Given the description of an element on the screen output the (x, y) to click on. 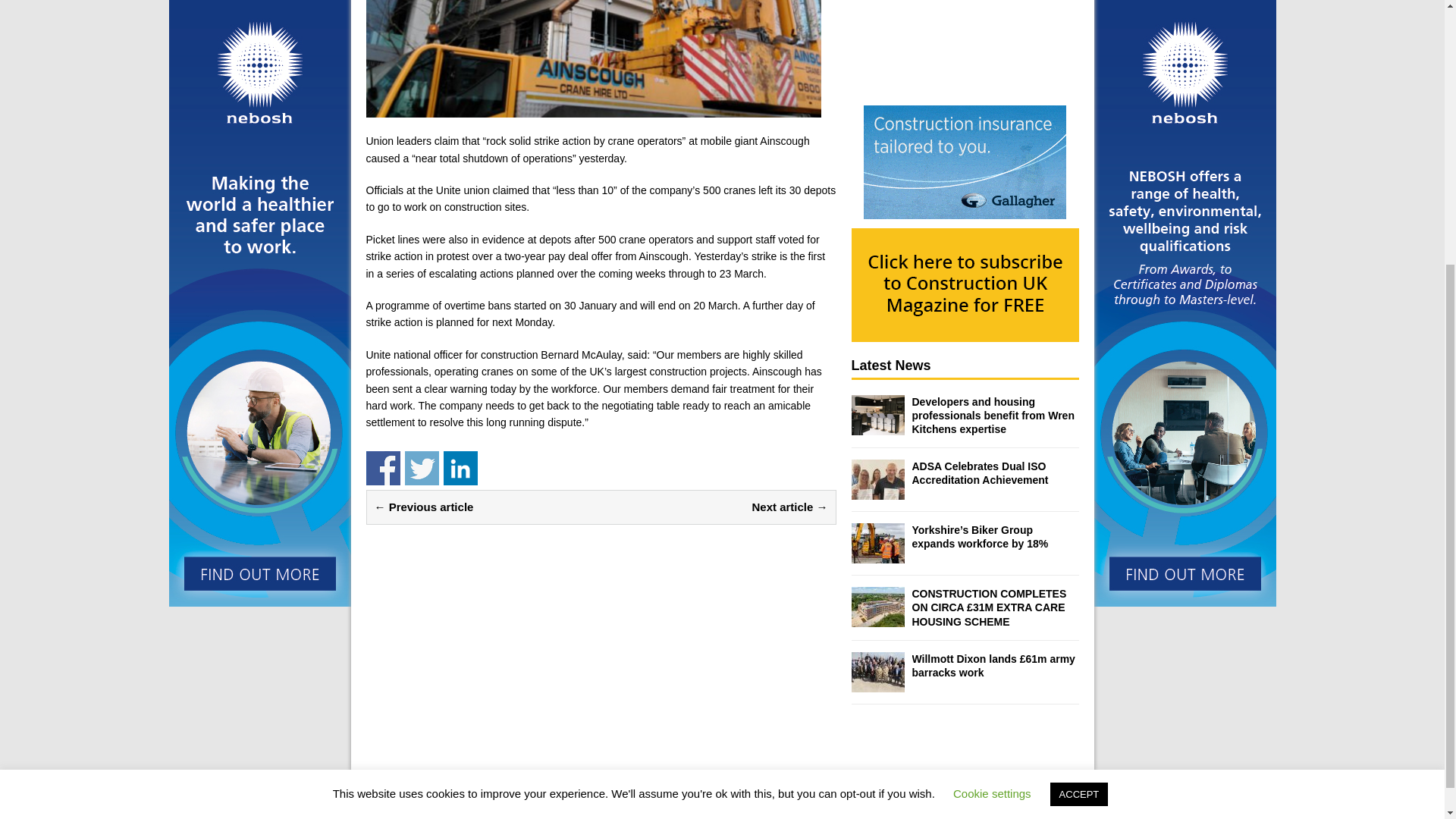
Share on Twitter (421, 468)
Share on Linkedin (460, 468)
ADSA Celebrates Dual ISO Accreditation Achievement (979, 473)
Ainscough Crane (593, 58)
Share on Facebook (381, 468)
ADSA Celebrates Dual ISO Accreditation Achievement (877, 491)
